Given the description of an element on the screen output the (x, y) to click on. 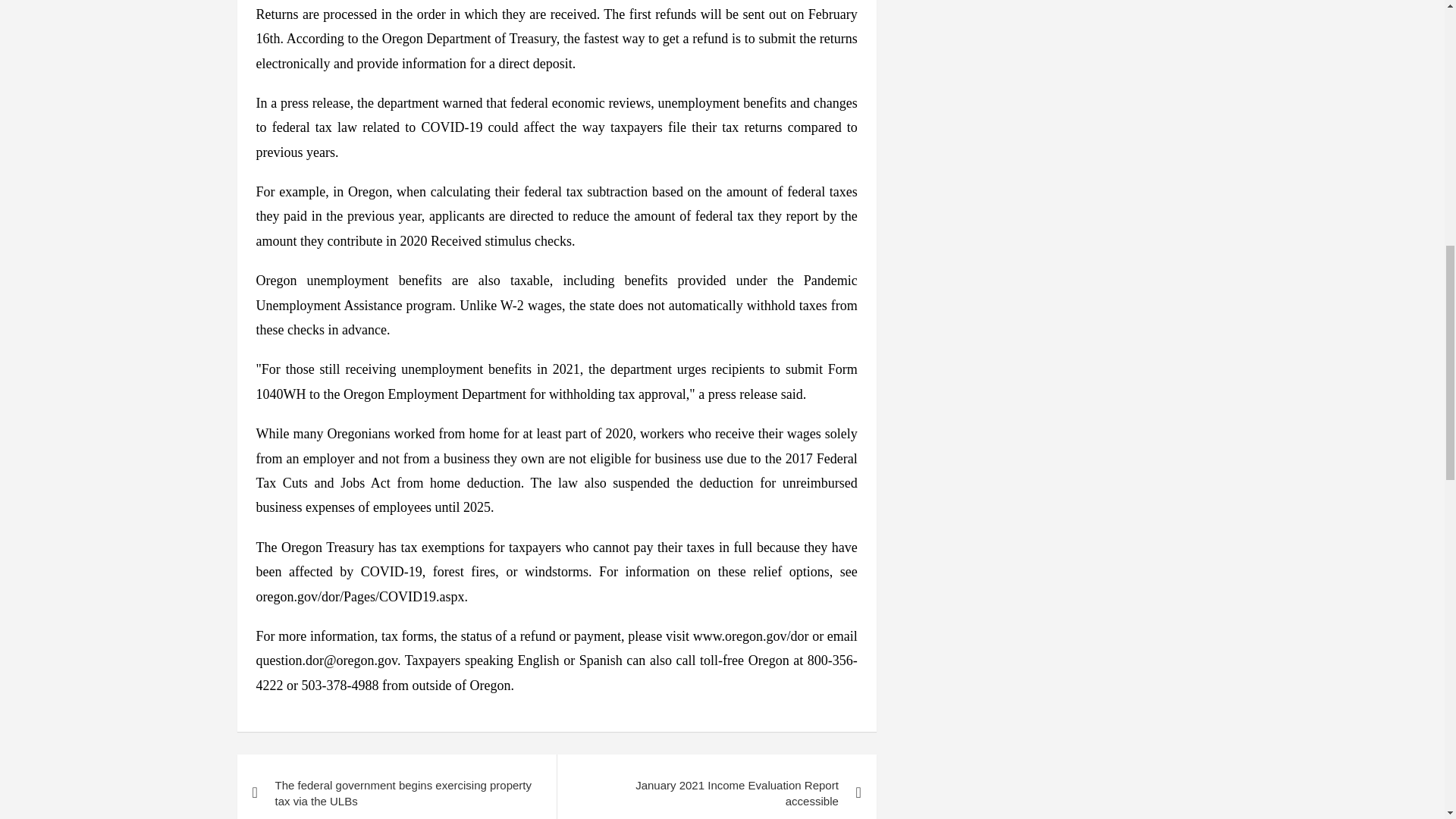
January 2021 Income Evaluation Report accessible (716, 786)
